Given the description of an element on the screen output the (x, y) to click on. 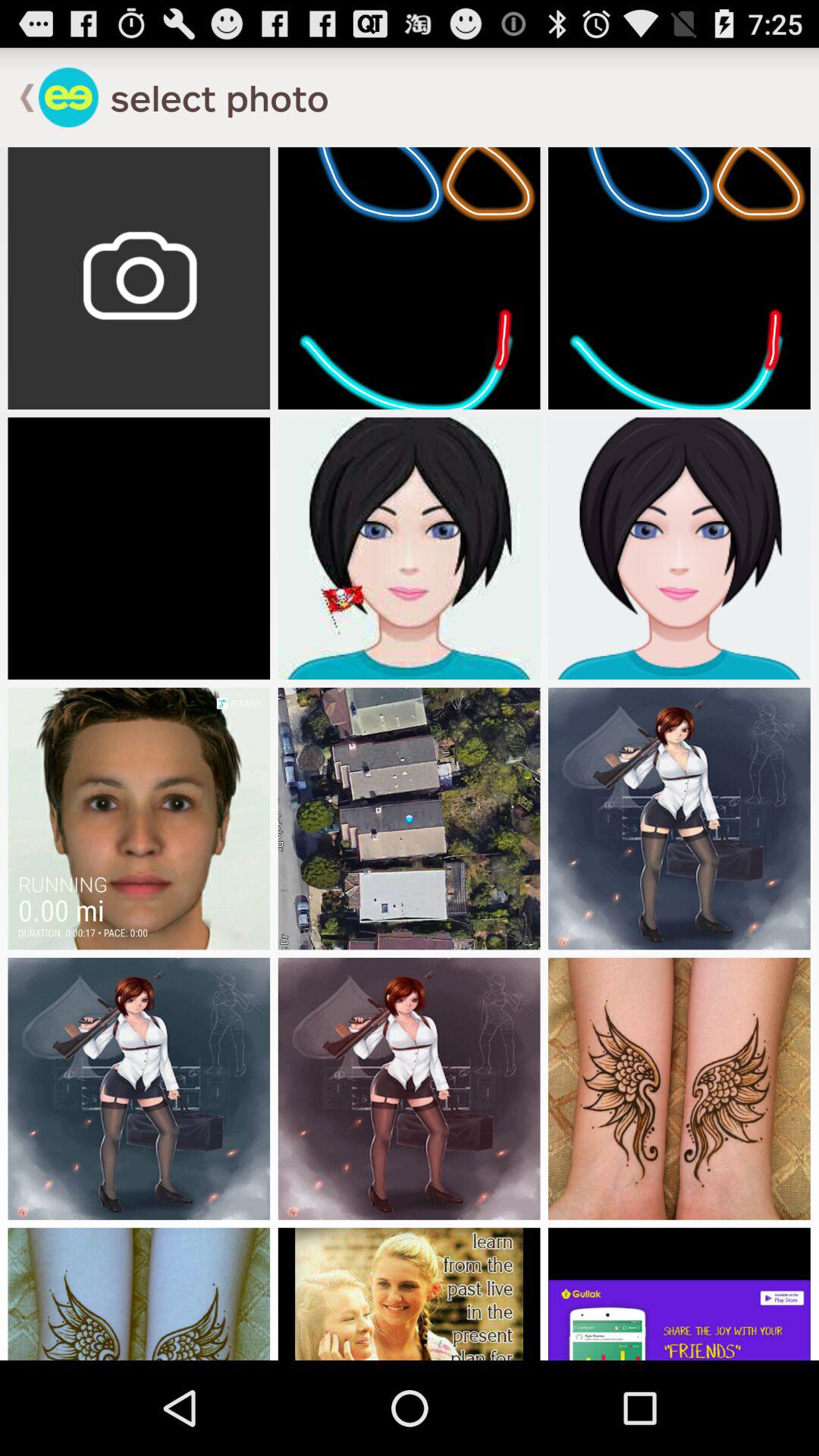
go back (68, 97)
